Given the description of an element on the screen output the (x, y) to click on. 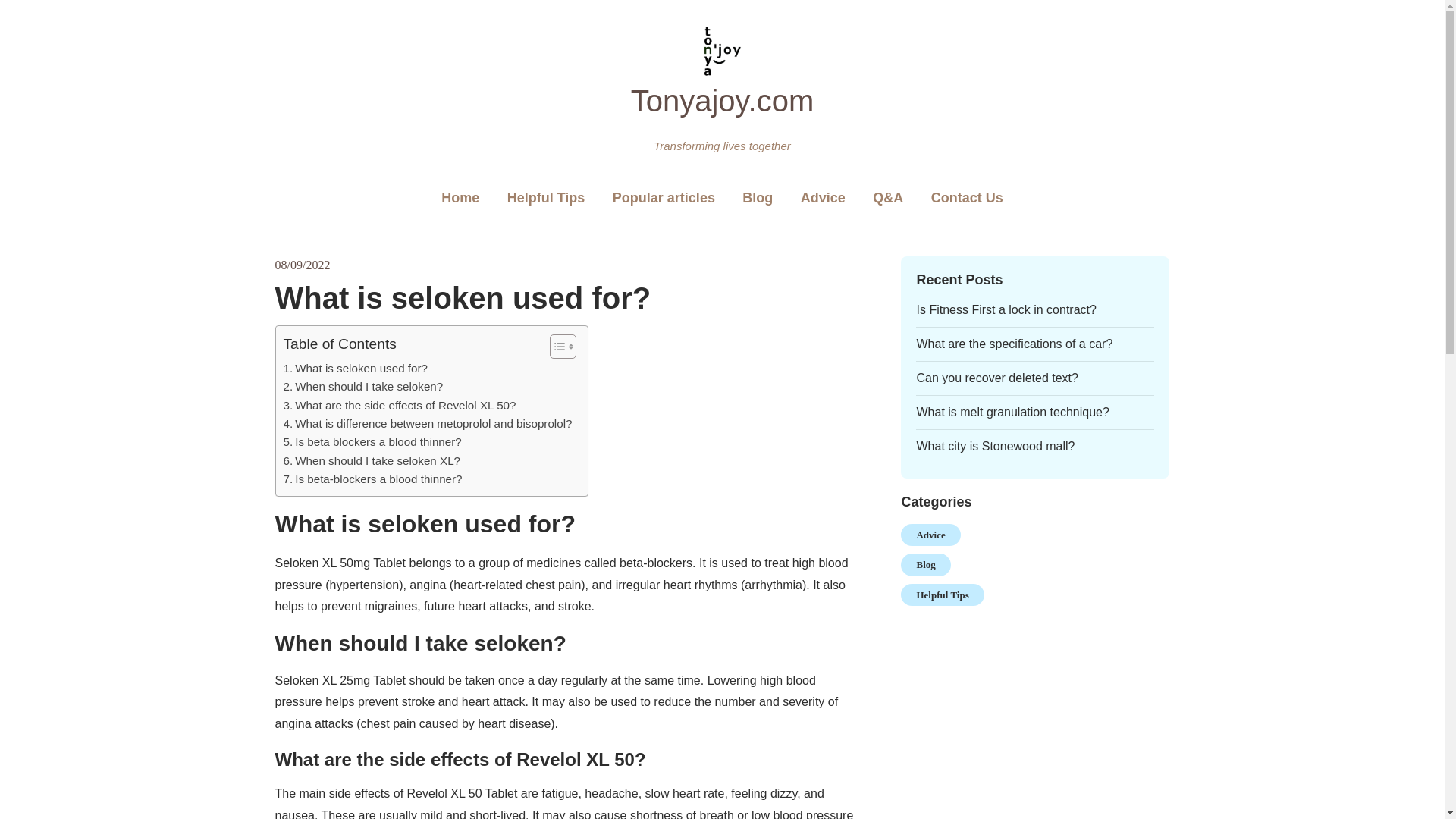
What is difference between metoprolol and bisoprolol? (427, 423)
When should I take seloken XL? (372, 461)
Can you recover deleted text? (996, 377)
What city is Stonewood mall? (994, 445)
What are the side effects of Revelol XL 50? (399, 405)
Is beta-blockers a blood thinner? (373, 479)
Blog (757, 198)
When should I take seloken? (363, 386)
What is seloken used for? (355, 368)
What are the specifications of a car? (1013, 343)
